Given the description of an element on the screen output the (x, y) to click on. 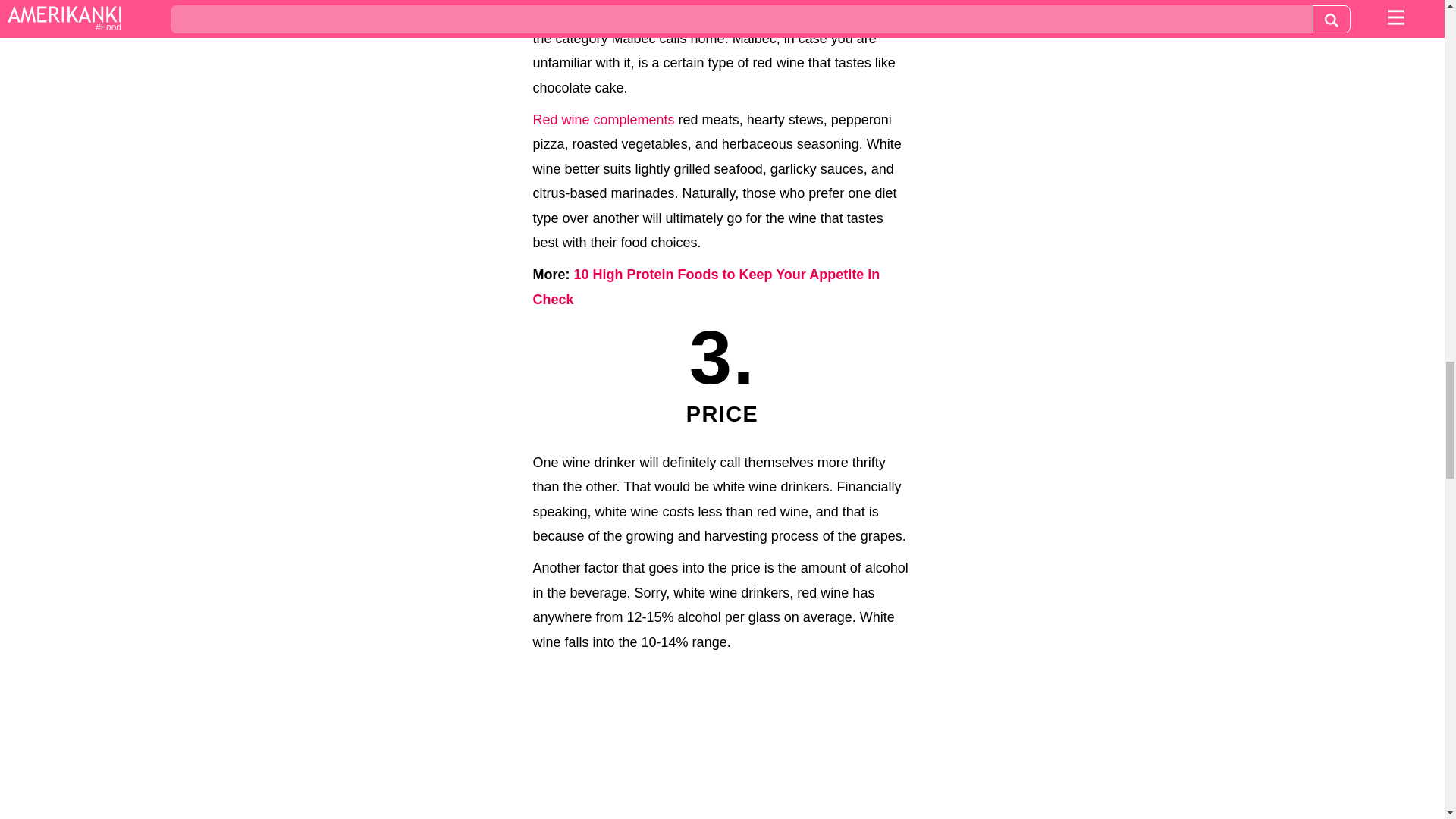
sugar (659, 13)
Red wine complements (603, 119)
10 High Protein Foods to Keep Your Appetite in Check (705, 286)
